Given the description of an element on the screen output the (x, y) to click on. 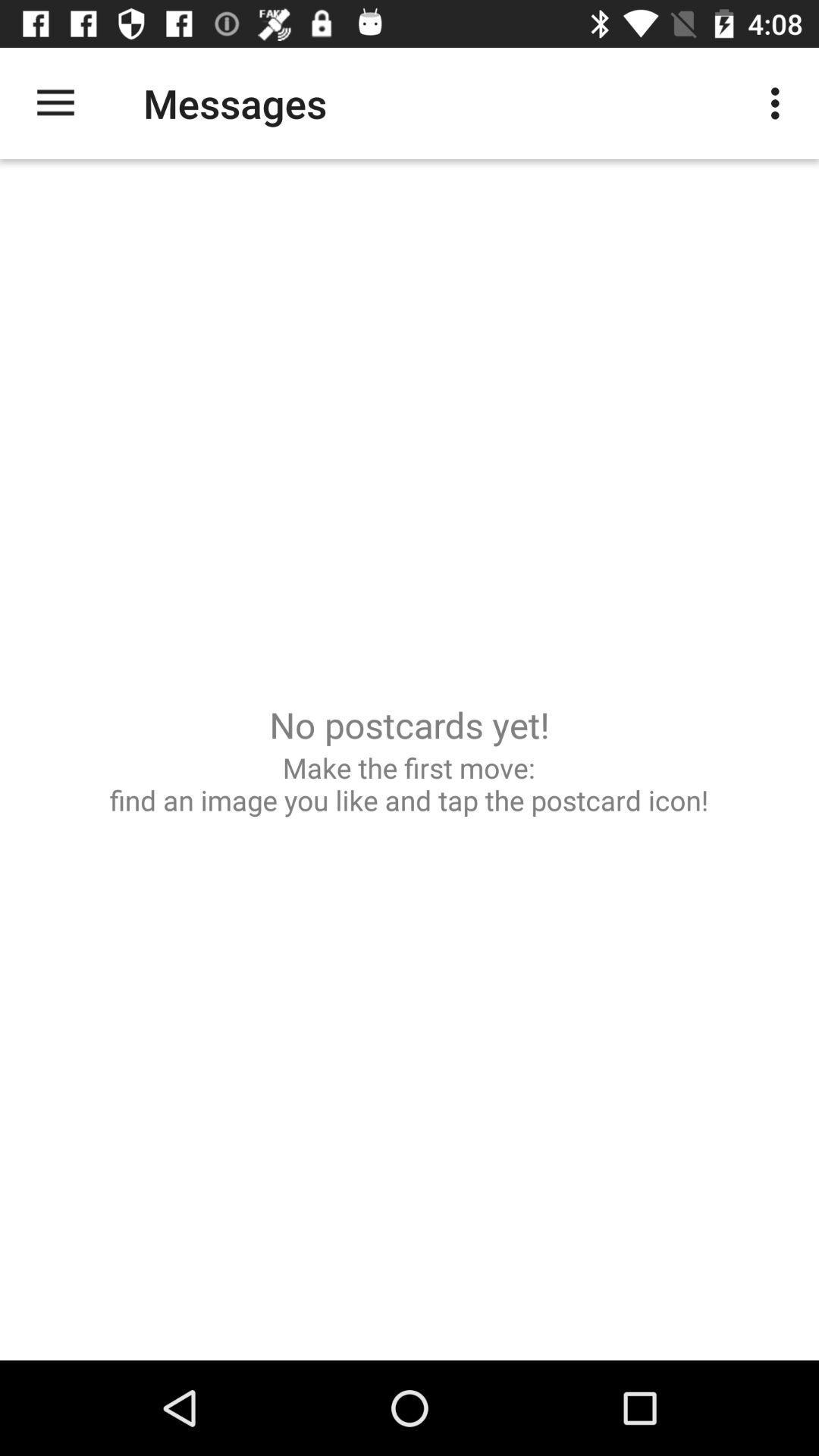
press the item to the right of the messages icon (779, 103)
